Given the description of an element on the screen output the (x, y) to click on. 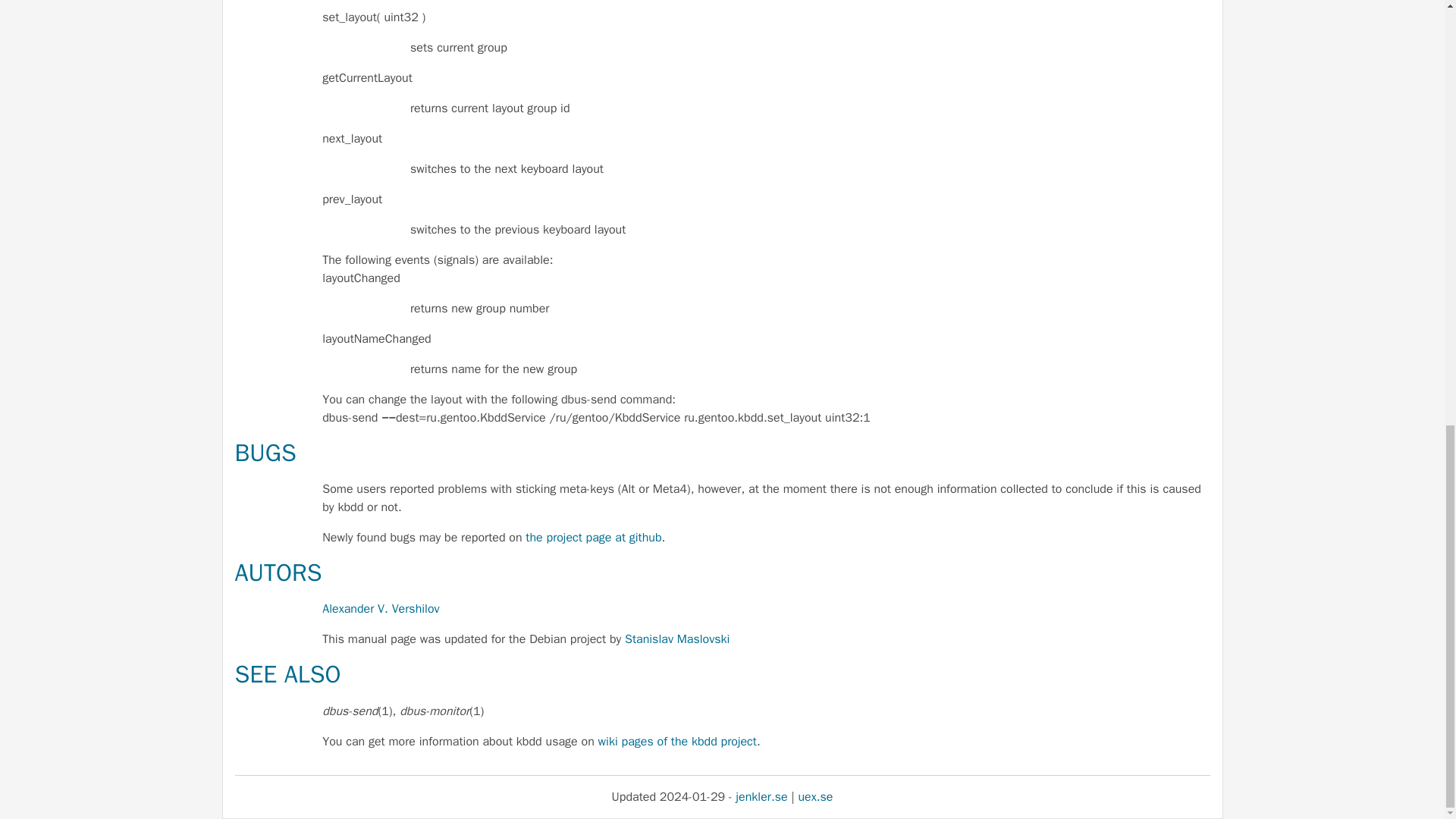
the project page at github (593, 537)
User EXperience (814, 796)
jenkler.se (761, 796)
Alexander V. Vershilov (380, 608)
BUGS (265, 452)
Jenkler IT AB (761, 796)
uex.se (814, 796)
Stanislav Maslovski (676, 639)
wiki pages of the kbdd project (677, 741)
AUTORS (277, 572)
SEE ALSO (287, 674)
